Given the description of an element on the screen output the (x, y) to click on. 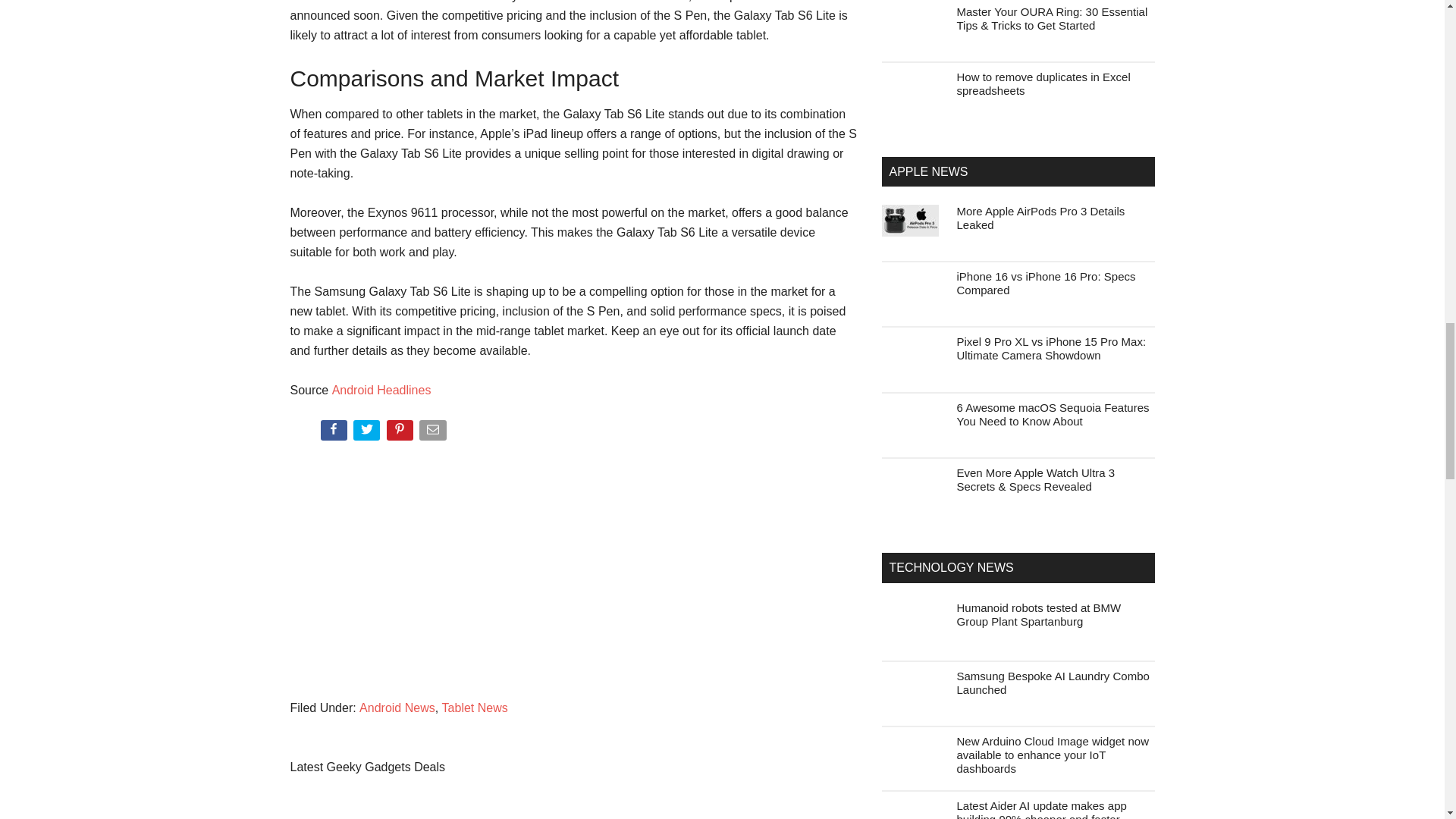
Share on Facebook (334, 433)
Pin (401, 433)
Tablet News (475, 707)
Android Headlines (380, 390)
Android News (397, 707)
Email (433, 433)
Tweet (367, 433)
